Given the description of an element on the screen output the (x, y) to click on. 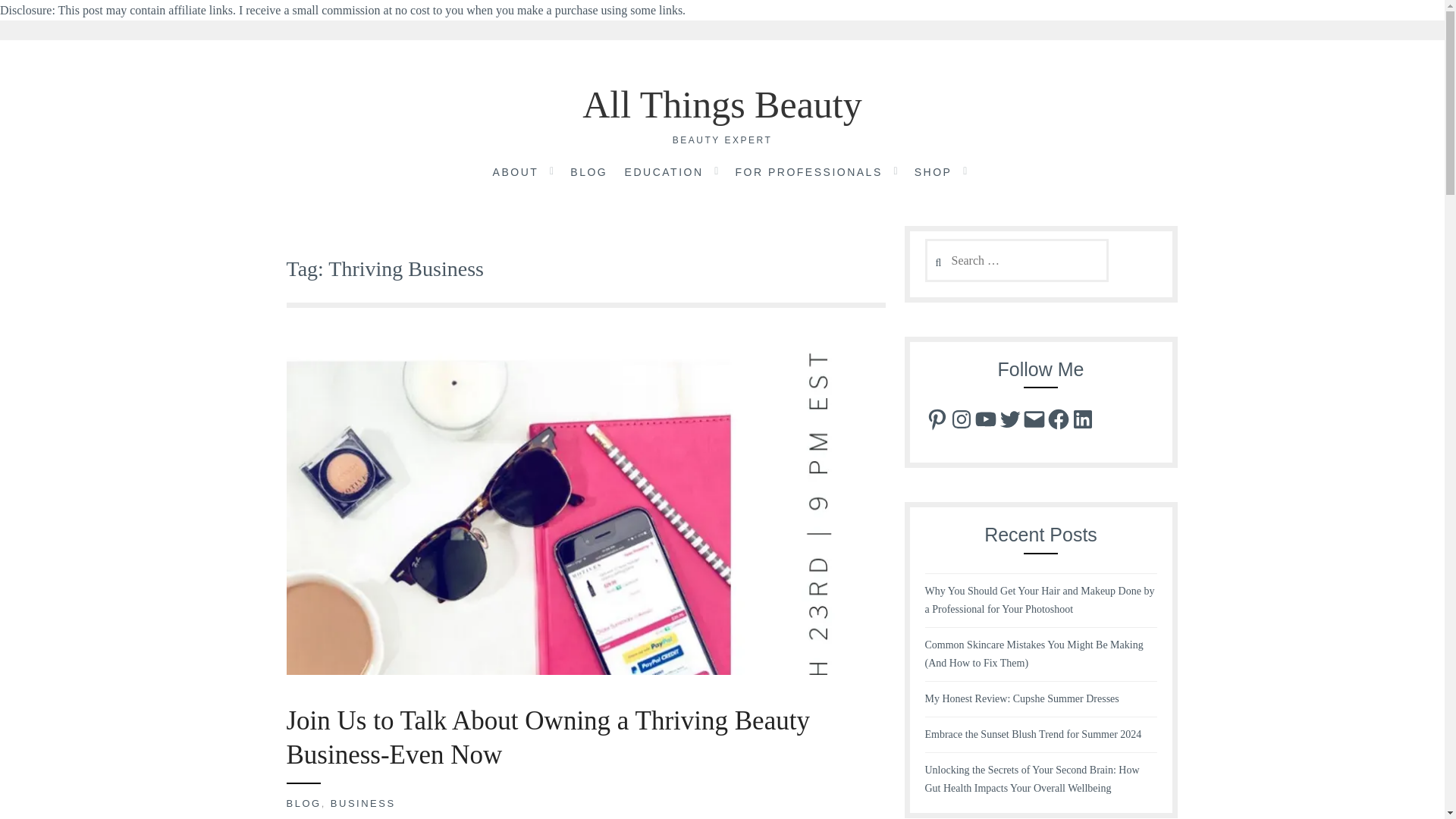
All Things Beauty (721, 104)
BUSINESS (363, 803)
FOR PROFESSIONALS (808, 173)
SHOP (933, 173)
BLOG (588, 173)
EDUCATION (663, 173)
ABOUT (515, 173)
Search (42, 19)
BLOG (303, 803)
